Given the description of an element on the screen output the (x, y) to click on. 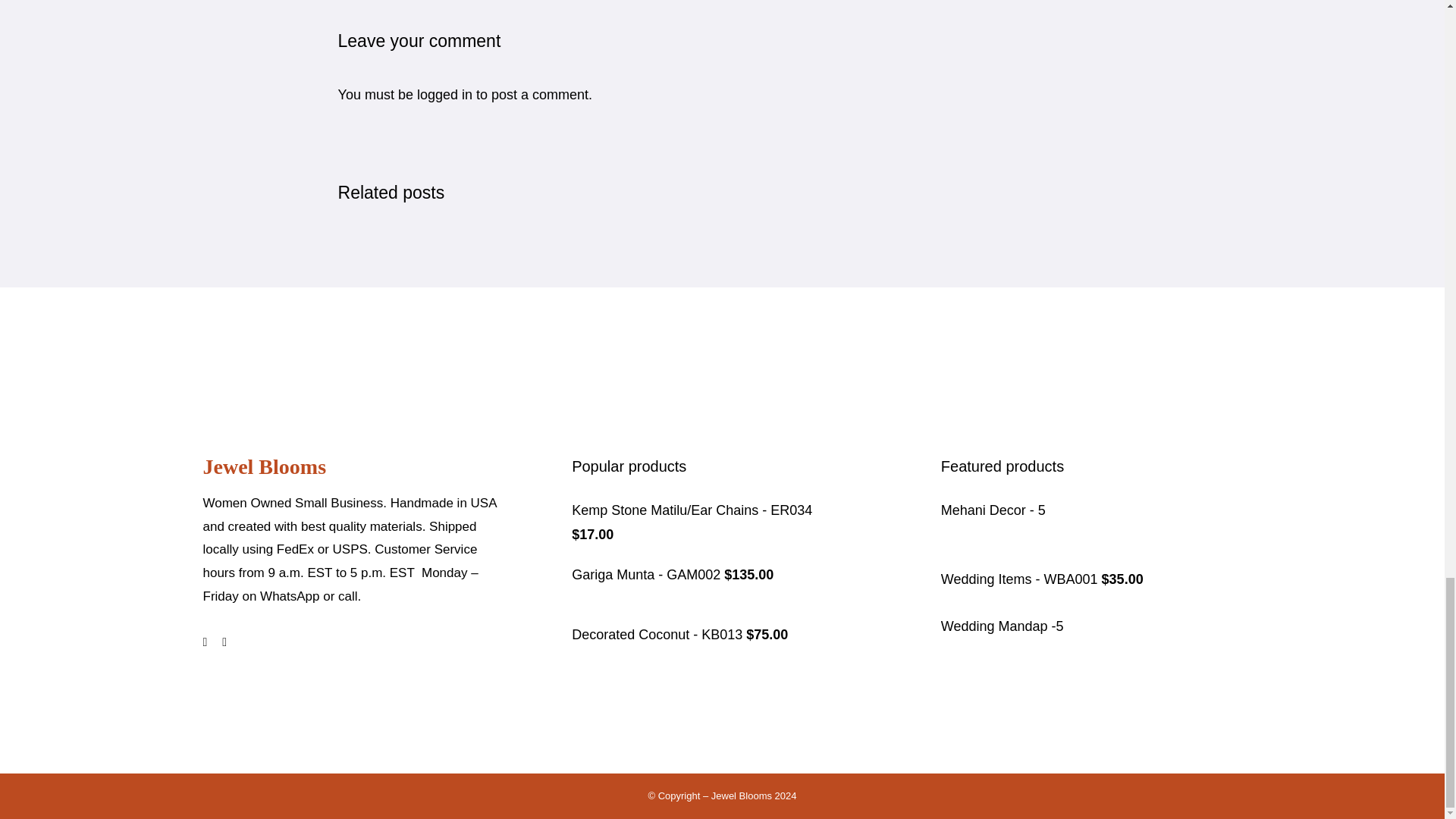
Gariga Munta - GAM002 (647, 574)
Wedding Mandap -5 (1002, 626)
Mehani Decor - 5 (992, 509)
logged in (443, 94)
Decorated Coconut - KB013 (658, 634)
Wedding Items - WBA001 (1021, 579)
